Given the description of an element on the screen output the (x, y) to click on. 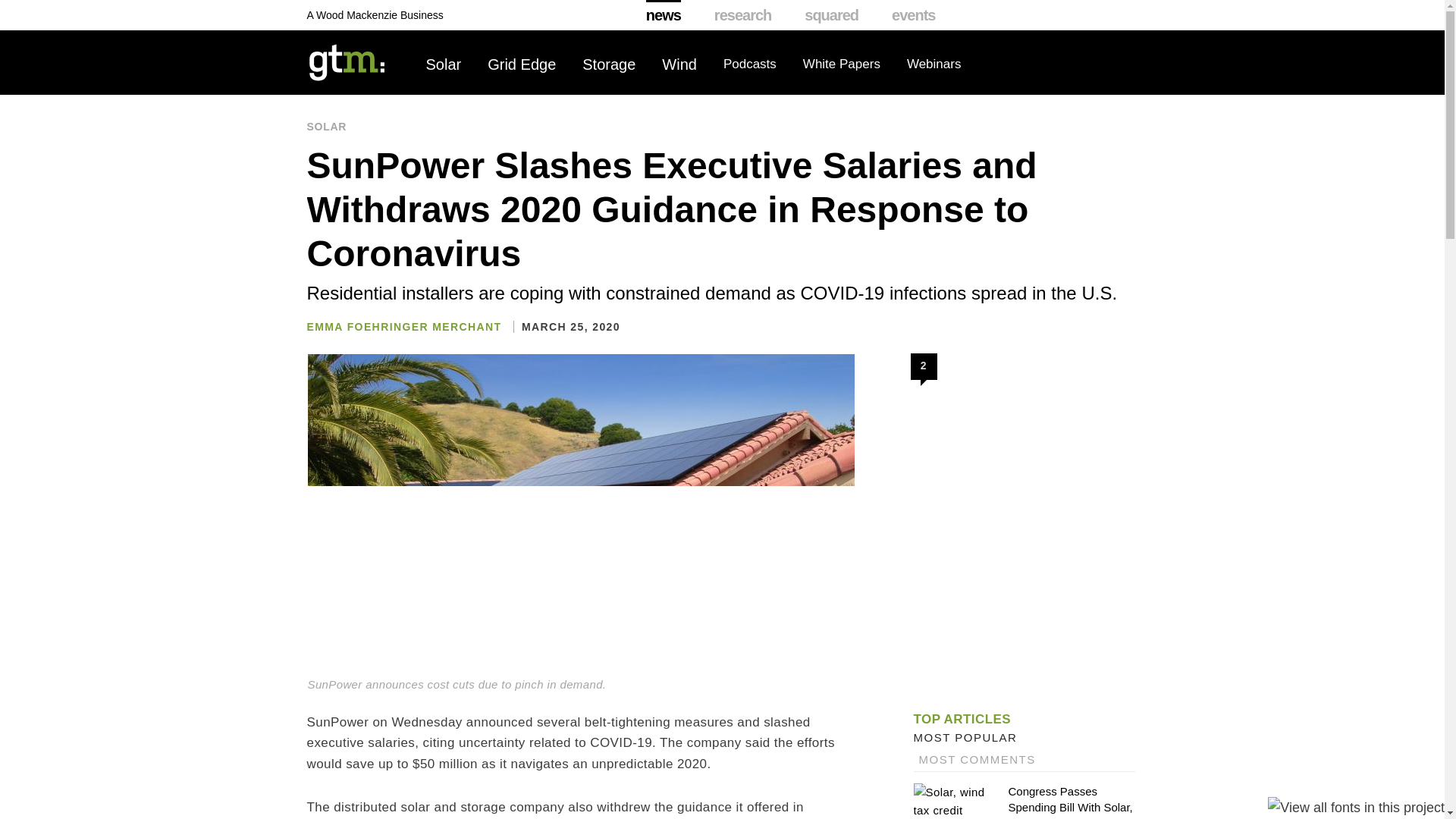
squared (832, 15)
Storage (608, 64)
Grid Edge (521, 64)
Wind (679, 64)
White Papers (841, 64)
news (663, 15)
Solar (443, 64)
research (742, 15)
events (912, 15)
Podcasts (749, 64)
